Given the description of an element on the screen output the (x, y) to click on. 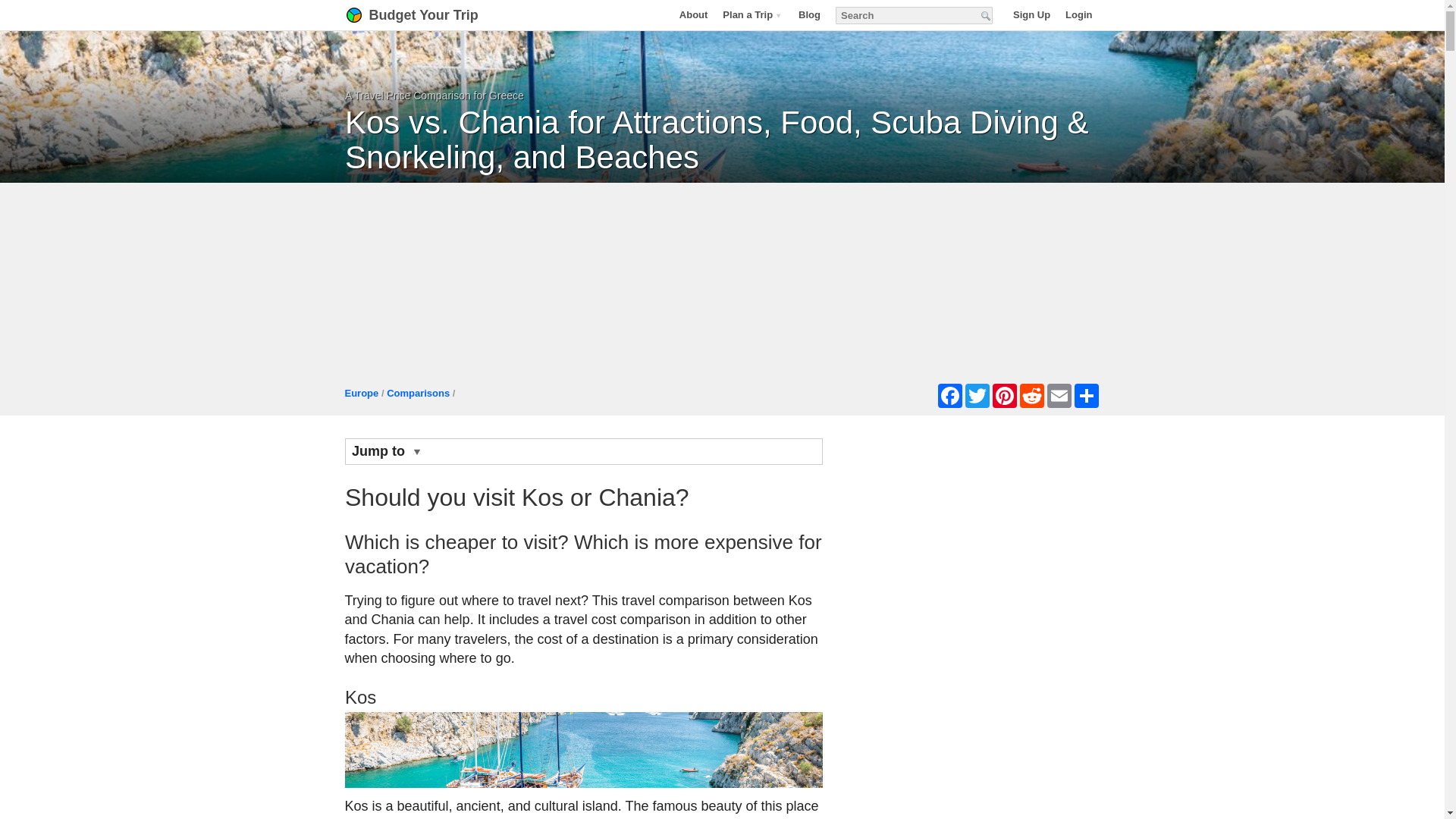
Reddit (1031, 395)
Twitter (976, 395)
Europe (360, 392)
Budget Your Trip (431, 14)
Sign Up (1031, 14)
Login (1078, 14)
Plan a Trip (752, 14)
About (693, 14)
Facebook (949, 395)
Email (1058, 395)
